Given the description of an element on the screen output the (x, y) to click on. 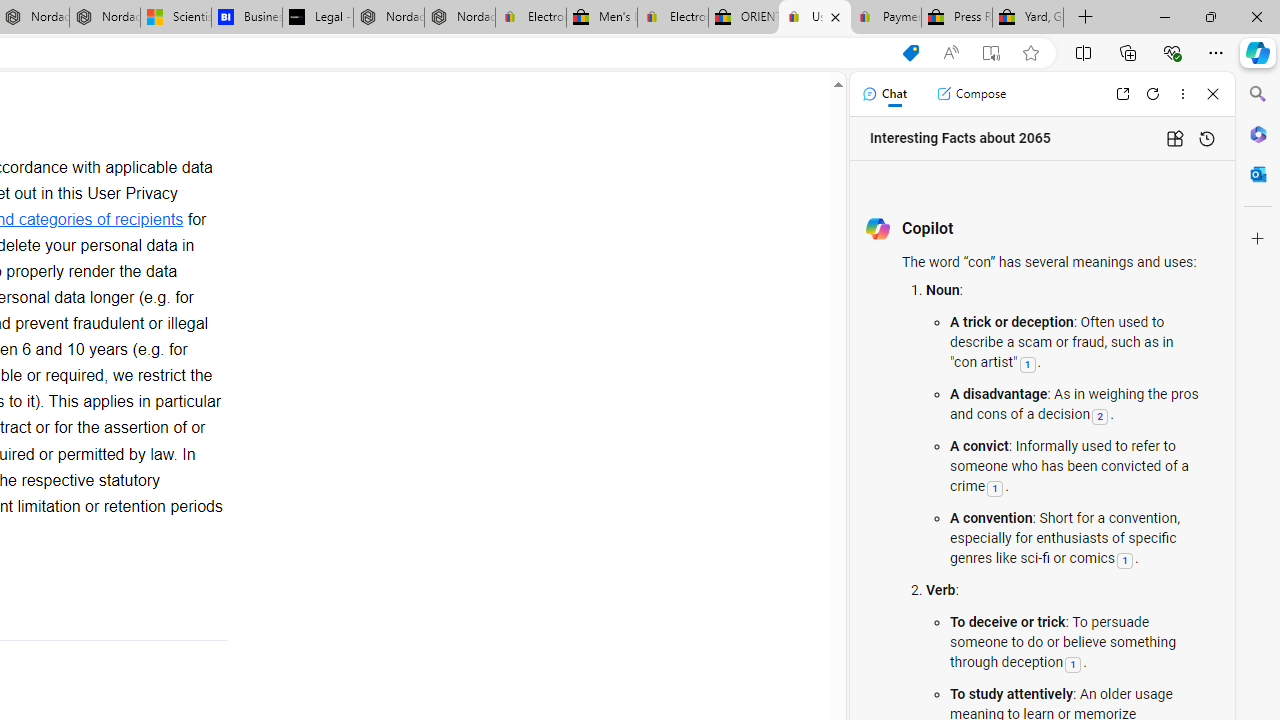
Yard, Garden & Outdoor Living (1028, 17)
Nordace - Summer Adventures 2024 (388, 17)
Electronics, Cars, Fashion, Collectibles & More | eBay (672, 17)
User Privacy Notice | eBay (814, 17)
